Given the description of an element on the screen output the (x, y) to click on. 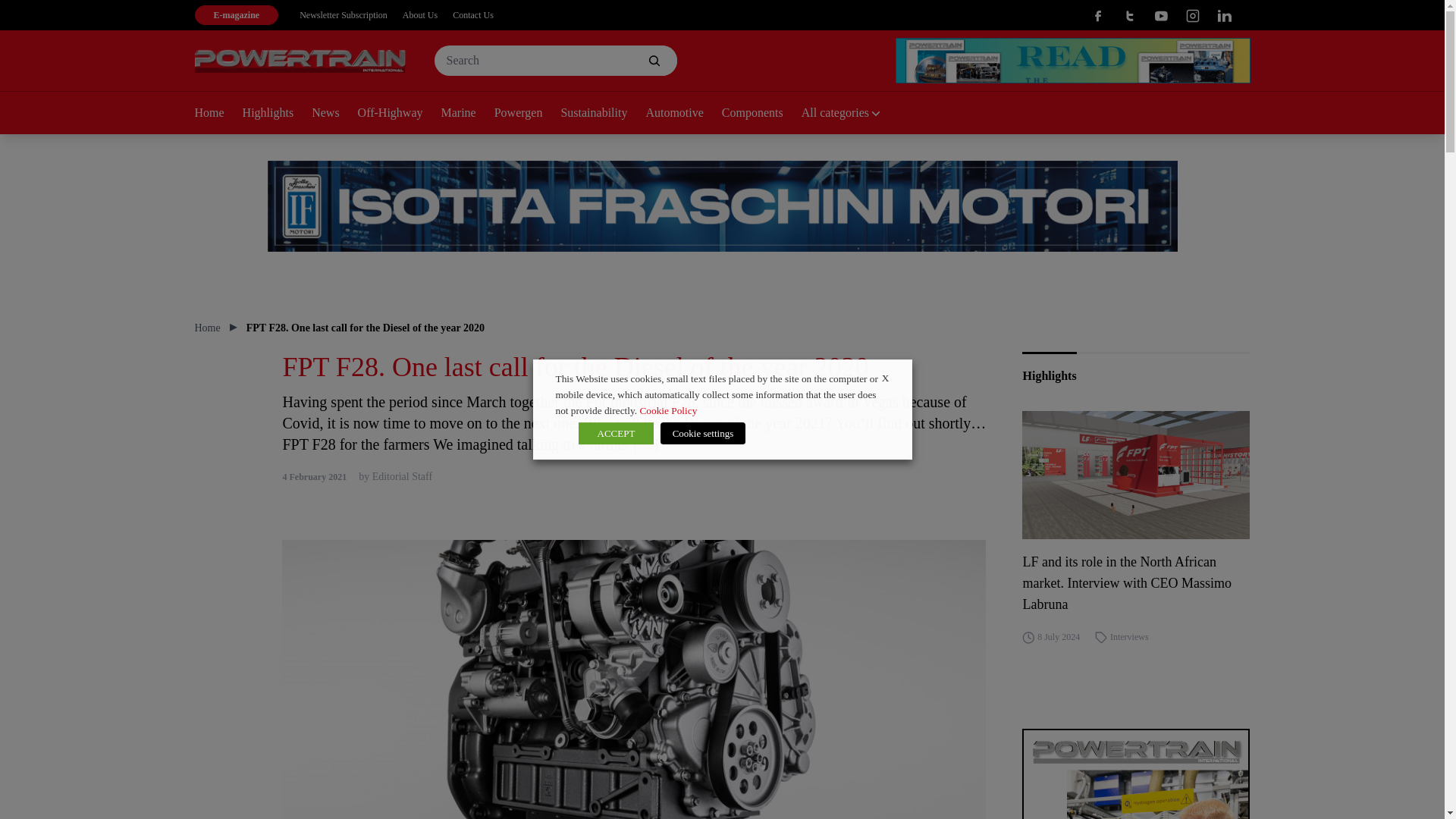
Powertrain International (299, 60)
E-magazine (235, 14)
Automotive (682, 113)
Cerca: (555, 60)
Highlights (278, 113)
About Us (420, 14)
Marine (468, 113)
Contact Us (472, 14)
News (333, 113)
Off-Highway (399, 113)
